Given the description of an element on the screen output the (x, y) to click on. 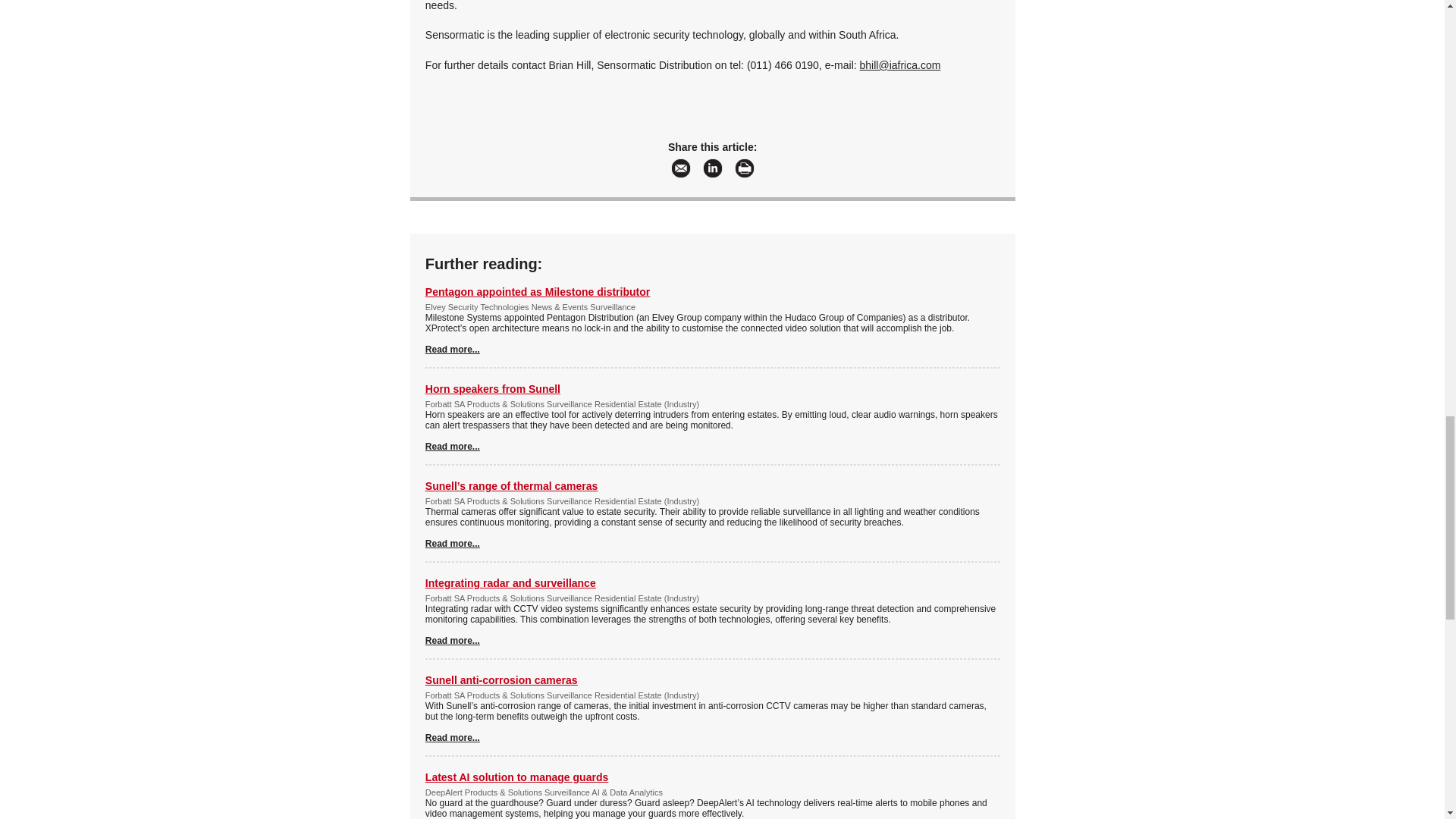
Share via LinkedIn (713, 168)
